Given the description of an element on the screen output the (x, y) to click on. 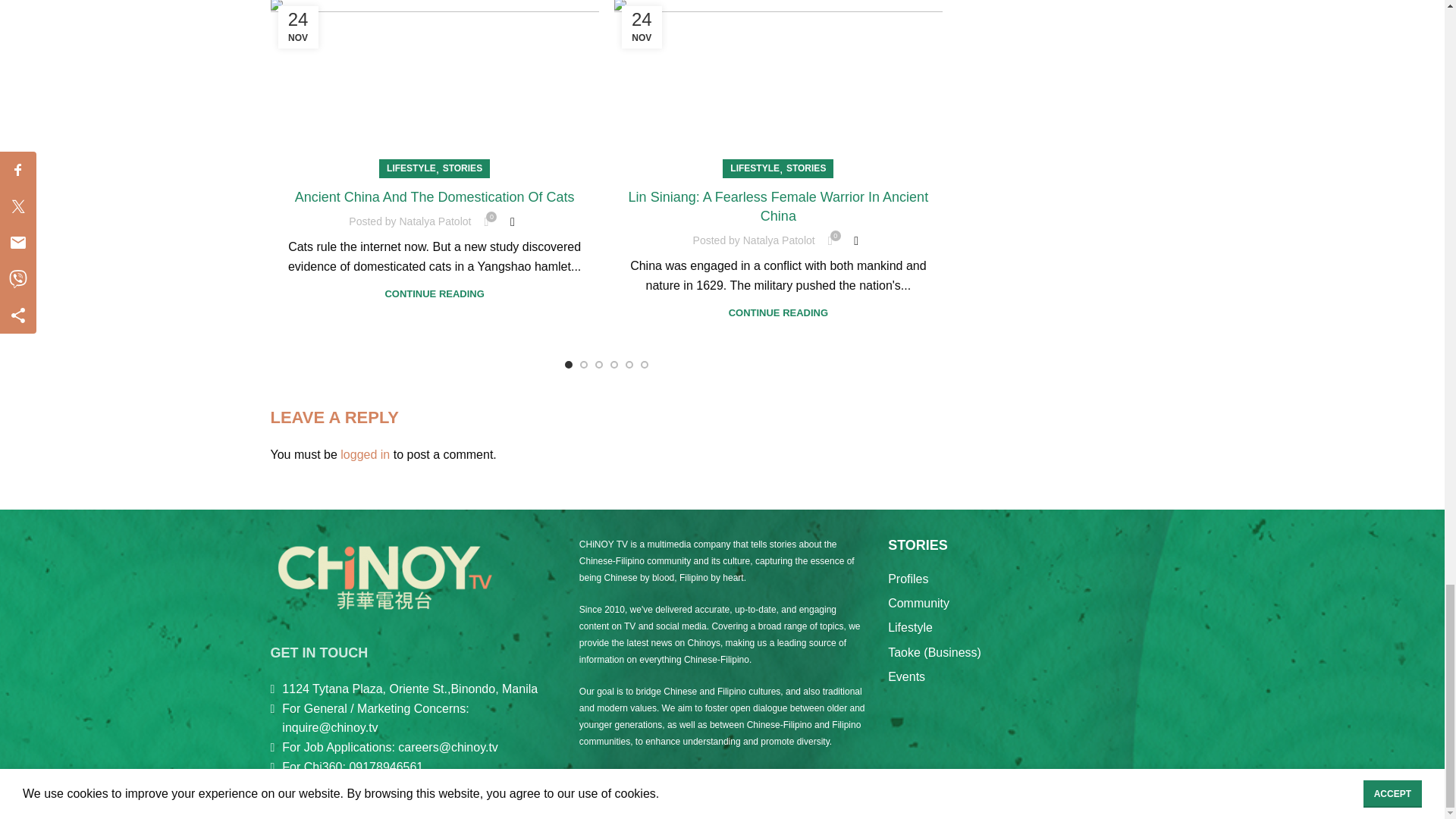
0 (486, 222)
chinoy-tv-logo (383, 575)
LIFESTYLE (754, 168)
LIFESTYLE (411, 168)
STORIES (805, 168)
CONTINUE READING (433, 293)
STORIES (461, 168)
Ancient China And The Domestication Of Cats (435, 196)
Natalya Patolot (434, 221)
